Given the description of an element on the screen output the (x, y) to click on. 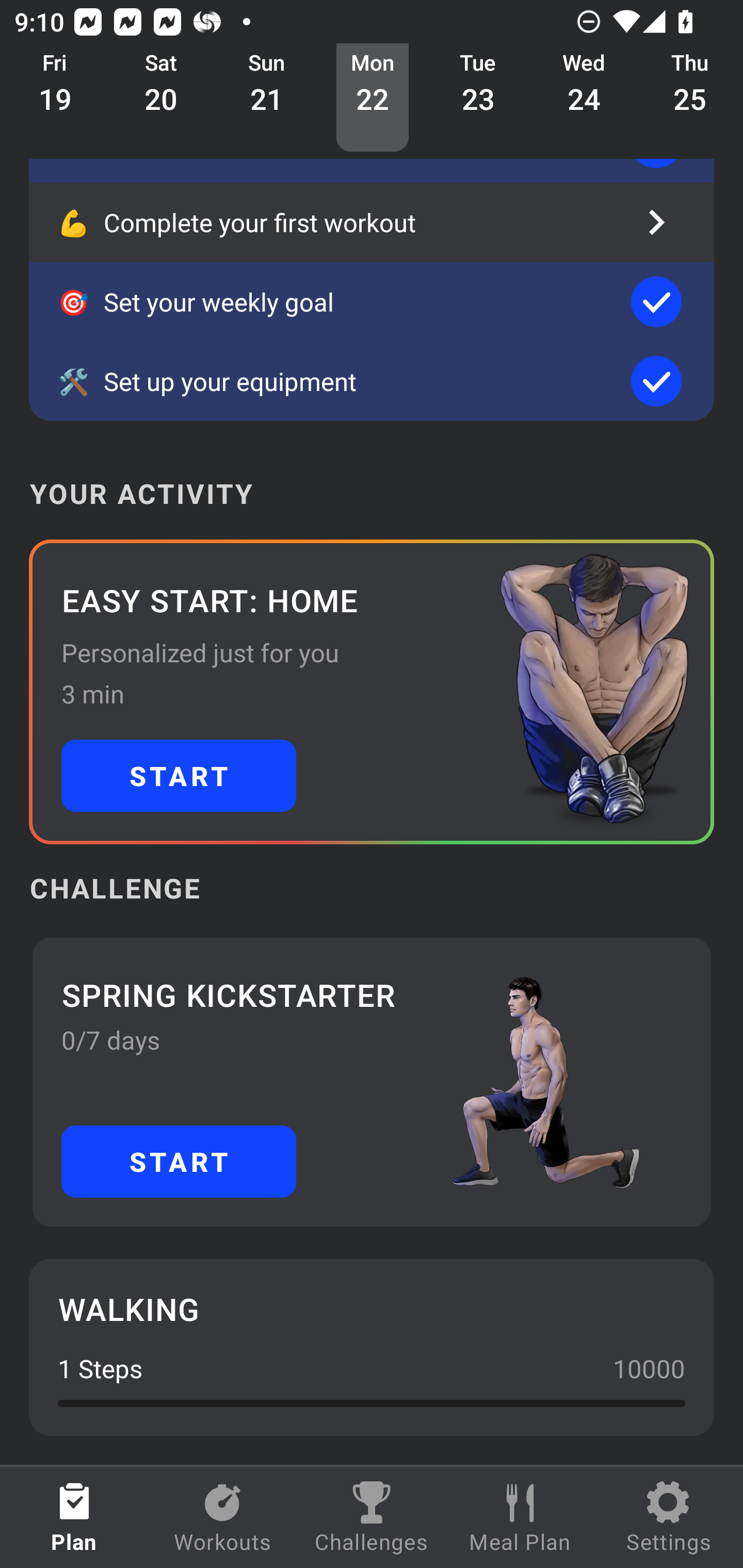
Fri 19 (55, 97)
Sat 20 (160, 97)
Sun 21 (266, 97)
Mon 22 (372, 97)
Tue 23 (478, 97)
Wed 24 (584, 97)
Thu 25 (690, 97)
💪 Complete your first workout (371, 221)
START (178, 776)
SPRING KICKSTARTER 0/7 days START (371, 1082)
START (178, 1161)
WALKING 1 Steps 10000 0.0 (371, 1347)
 Workouts  (222, 1517)
 Challenges  (371, 1517)
 Meal Plan  (519, 1517)
 Settings  (668, 1517)
